Given the description of an element on the screen output the (x, y) to click on. 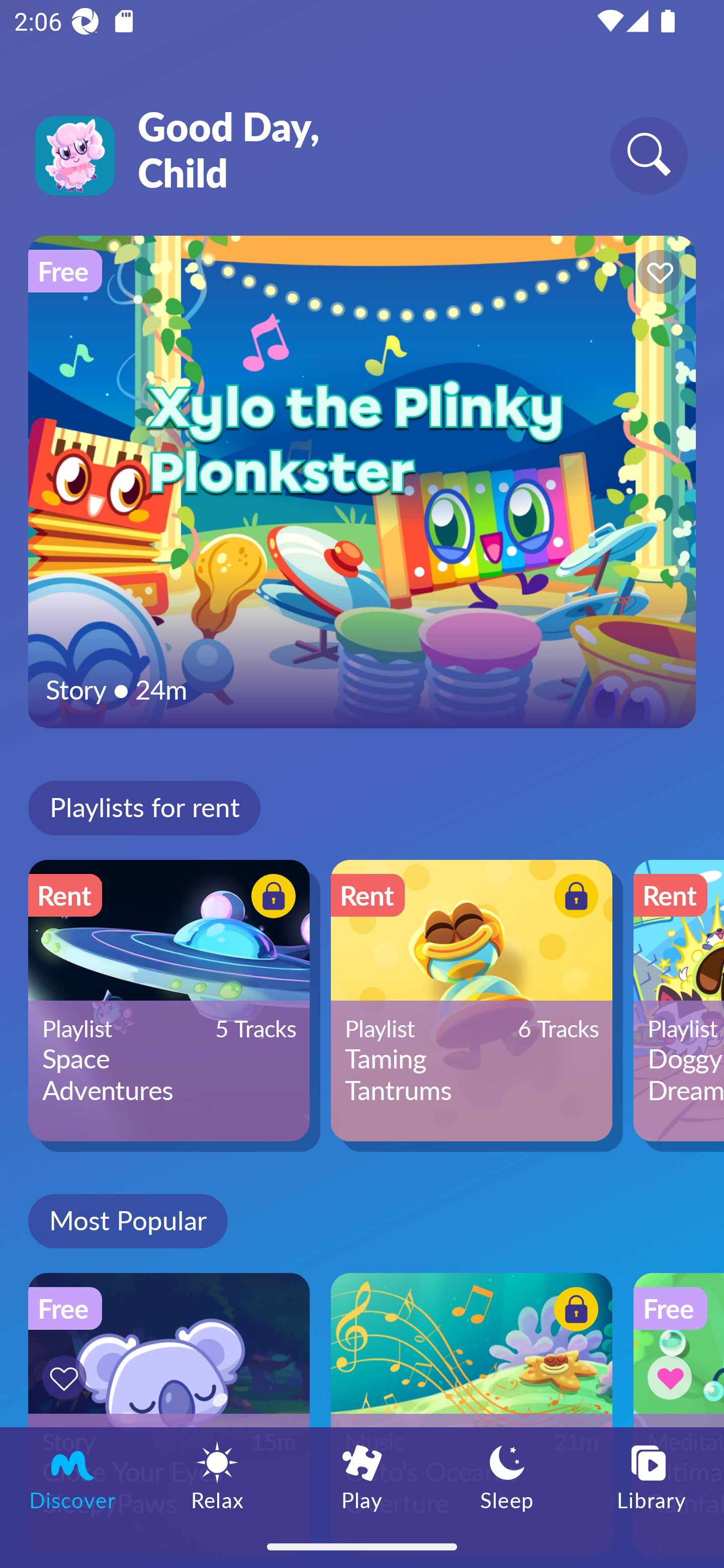
Search (648, 154)
Featured Content Free Button Story ● 24m (361, 481)
Button (656, 274)
Button (269, 898)
Button (573, 898)
Button (573, 1312)
Button (67, 1377)
Button (672, 1377)
Relax (216, 1475)
Play (361, 1475)
Sleep (506, 1475)
Library (651, 1475)
